Given the description of an element on the screen output the (x, y) to click on. 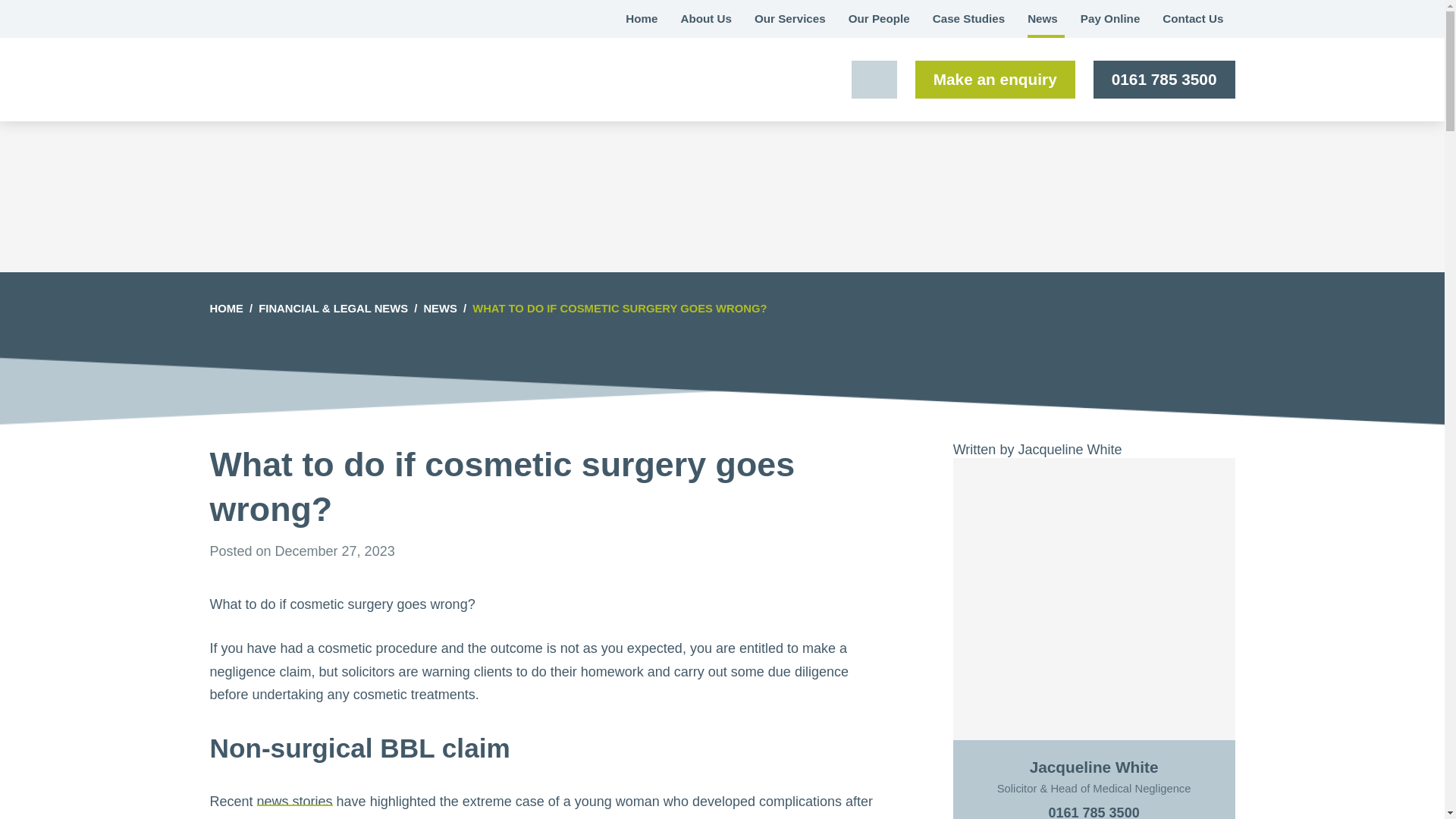
Our People (879, 18)
Home (641, 18)
Case Studies (968, 18)
Our Services (789, 18)
About Us (705, 18)
